Given the description of an element on the screen output the (x, y) to click on. 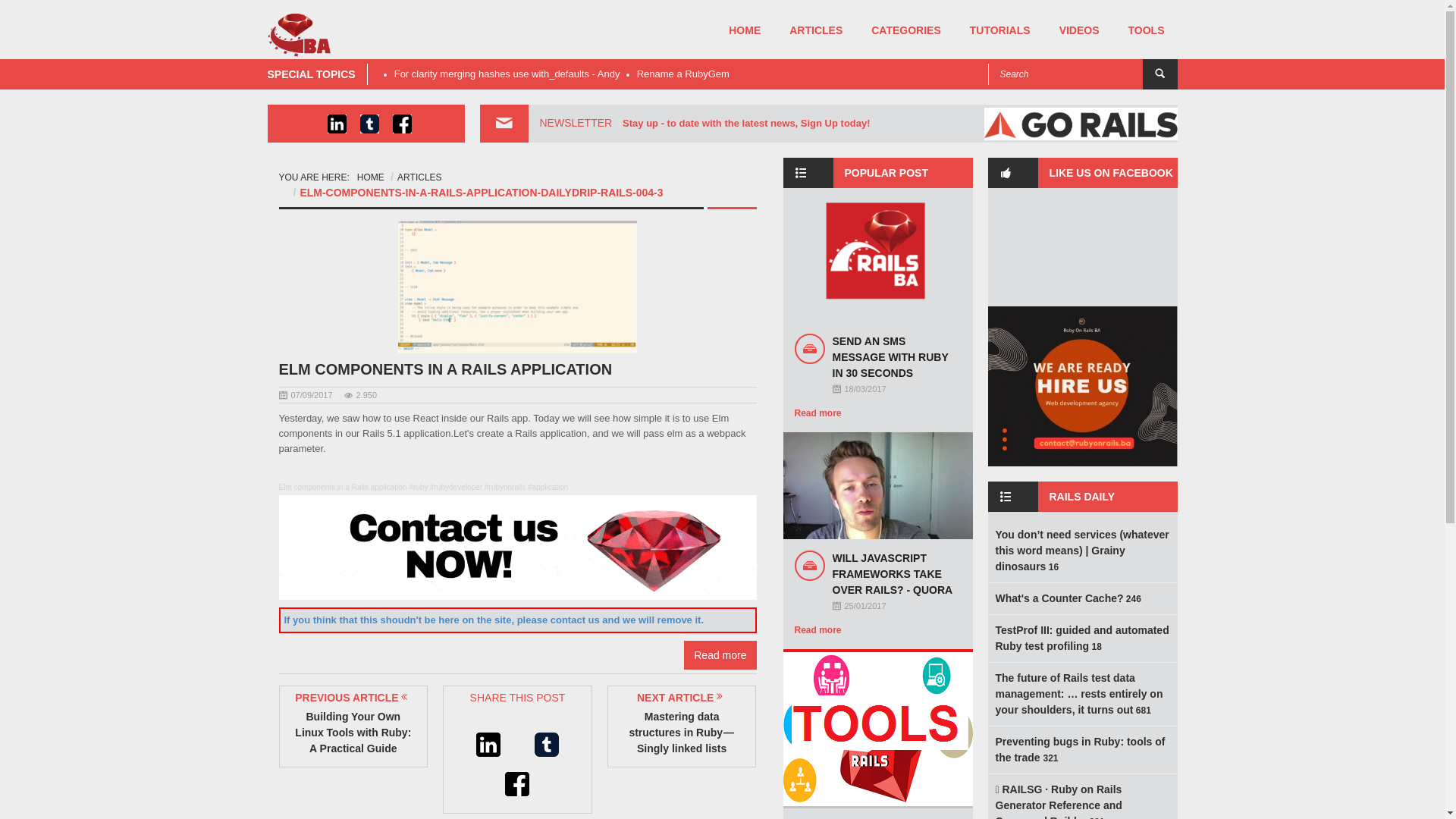
ARTICLES Element type: text (419, 177)
Read more Element type: text (817, 412)
Read more Element type: text (817, 629)
PREVIOUS ARTICLE Element type: text (357, 698)
ARTICLES Element type: text (815, 30)
Preventing bugs in Ruby: tools of the trade Element type: text (1079, 749)
WILL JAVASCRIPT FRAMEWORKS TAKE OVER RAILS? - QUORA Element type: text (892, 574)
TUTORIALS Element type: text (1000, 30)
TOOLS Element type: text (1146, 30)
TestProf III: guided and automated Ruby test profiling Element type: text (1081, 638)
VIDEOS Element type: text (1079, 30)
For clarity merging hashes use with_defaults - Andy Croll Element type: text (507, 81)
What's a Counter Cache? Element type: text (1058, 598)
SEND AN SMS MESSAGE WITH RUBY IN 30 SECONDS Element type: text (890, 357)
HOME Element type: text (370, 177)
Rename a RubyGem Element type: text (683, 73)
NEXT ARTICLE Element type: text (699, 698)
Building Your Own Linux Tools with Ruby: A Practical Guide Element type: text (352, 732)
HOME Element type: text (744, 30)
CATEGORIES Element type: text (905, 30)
